Given the description of an element on the screen output the (x, y) to click on. 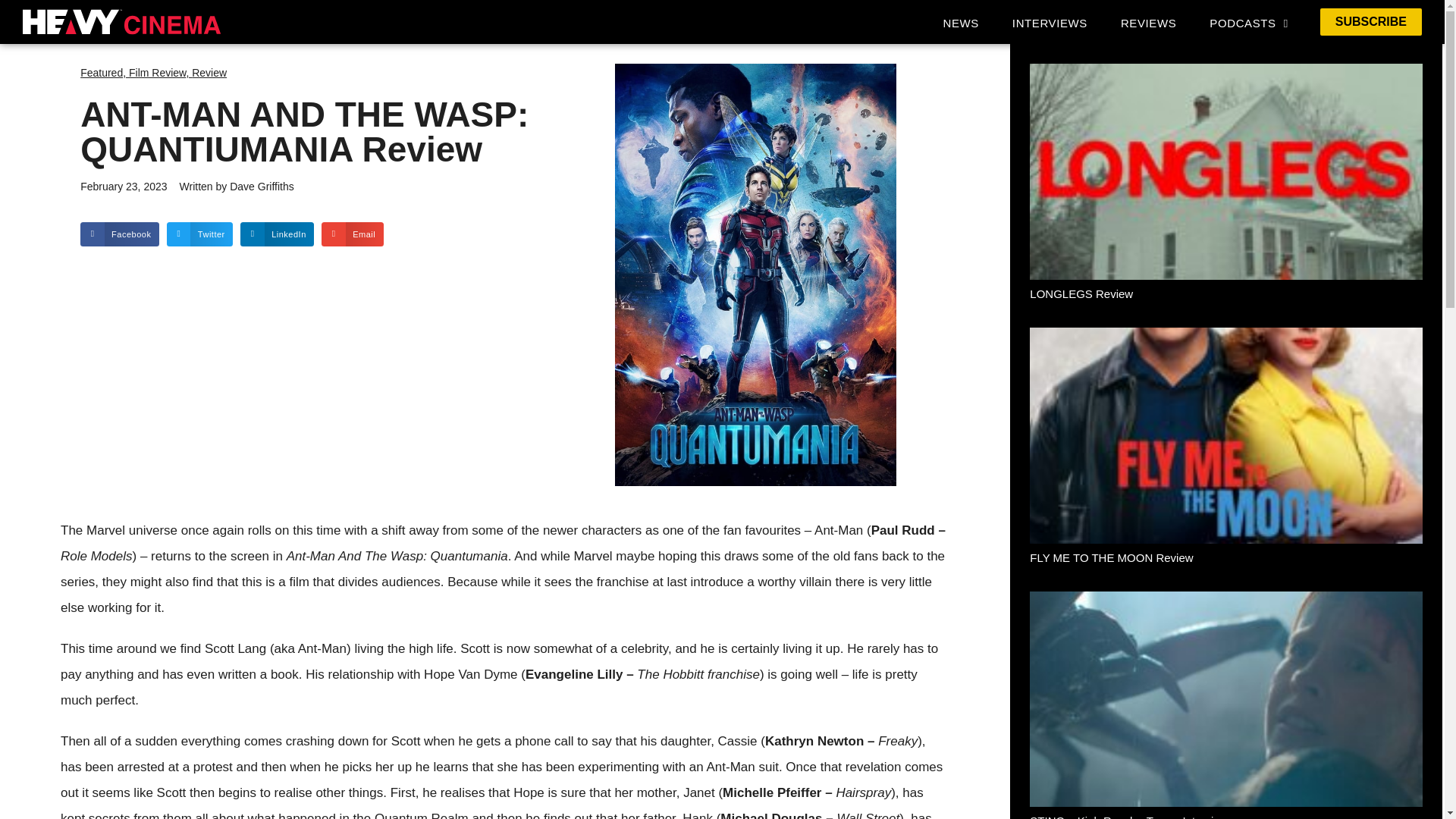
PODCASTS (1248, 22)
SUBSCRIBE (1371, 21)
REVIEWS (1147, 22)
NEWS (960, 22)
INTERVIEWS (1049, 22)
